Given the description of an element on the screen output the (x, y) to click on. 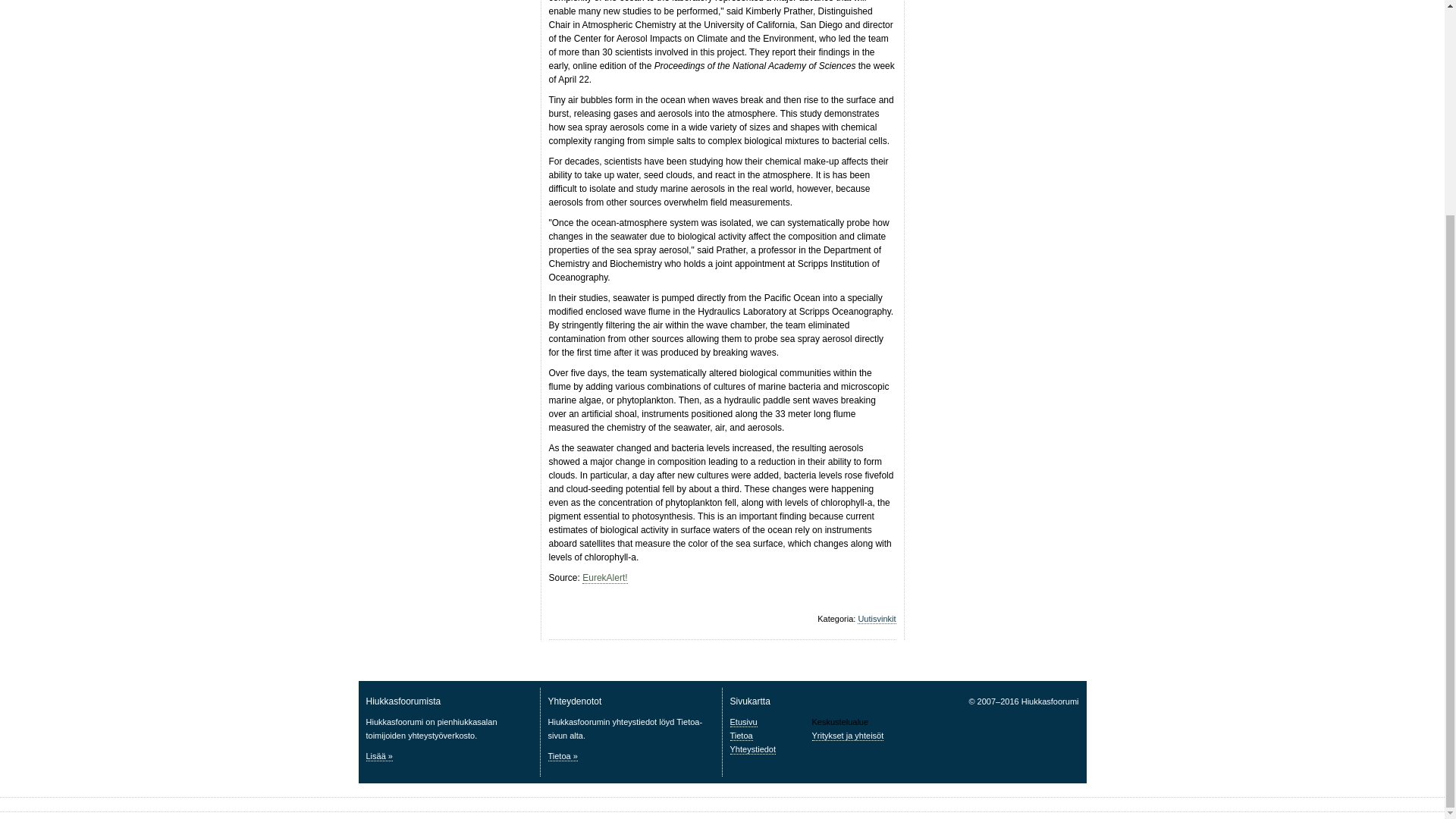
Etusivu (743, 722)
Tietoa (740, 736)
Uutisvinkit (876, 619)
EurekAlert! (604, 577)
Yhteystiedot (752, 749)
Uutisvinkit (876, 619)
